Given the description of an element on the screen output the (x, y) to click on. 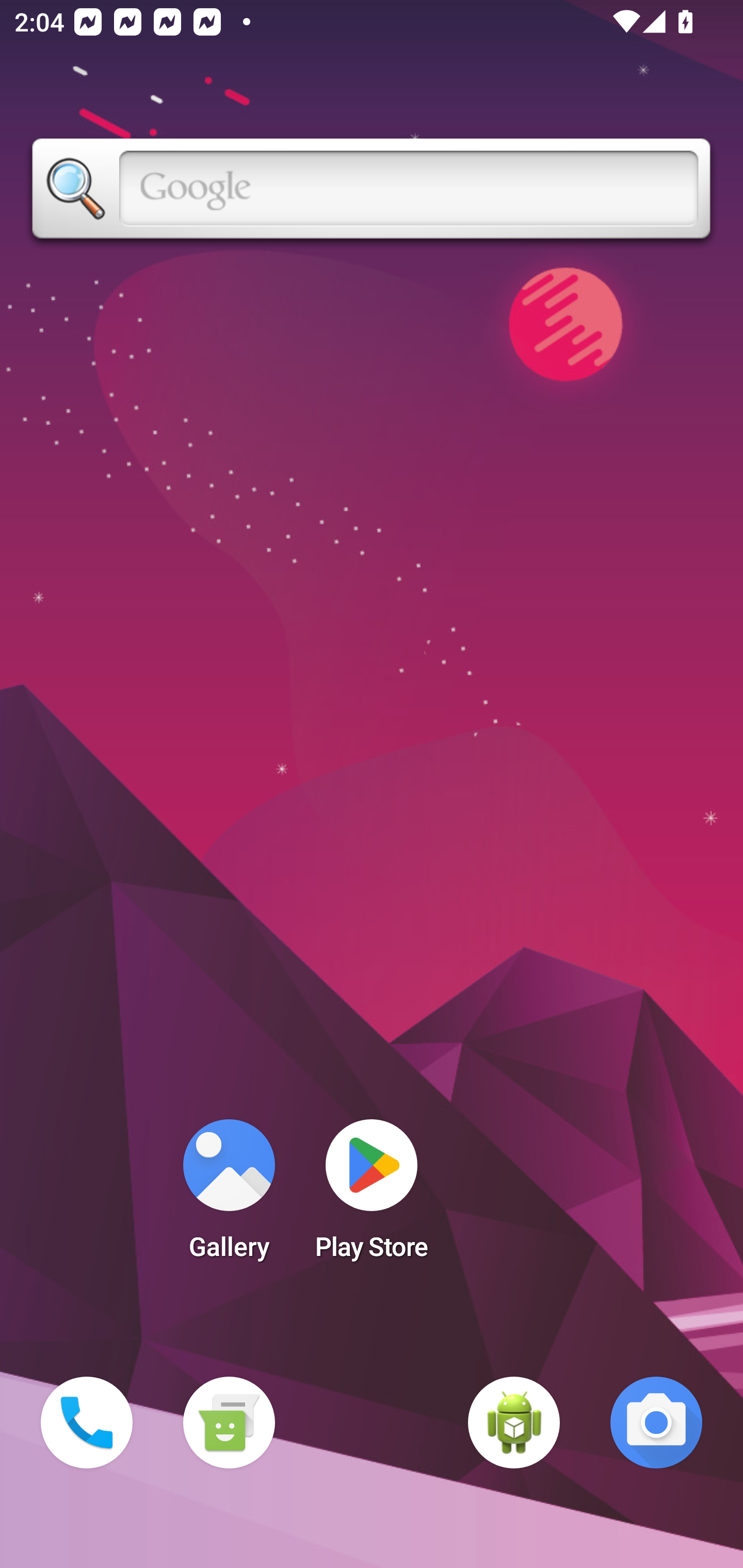
Gallery (228, 1195)
Play Store (371, 1195)
Phone (86, 1422)
Messaging (228, 1422)
WebView Browser Tester (513, 1422)
Camera (656, 1422)
